Given the description of an element on the screen output the (x, y) to click on. 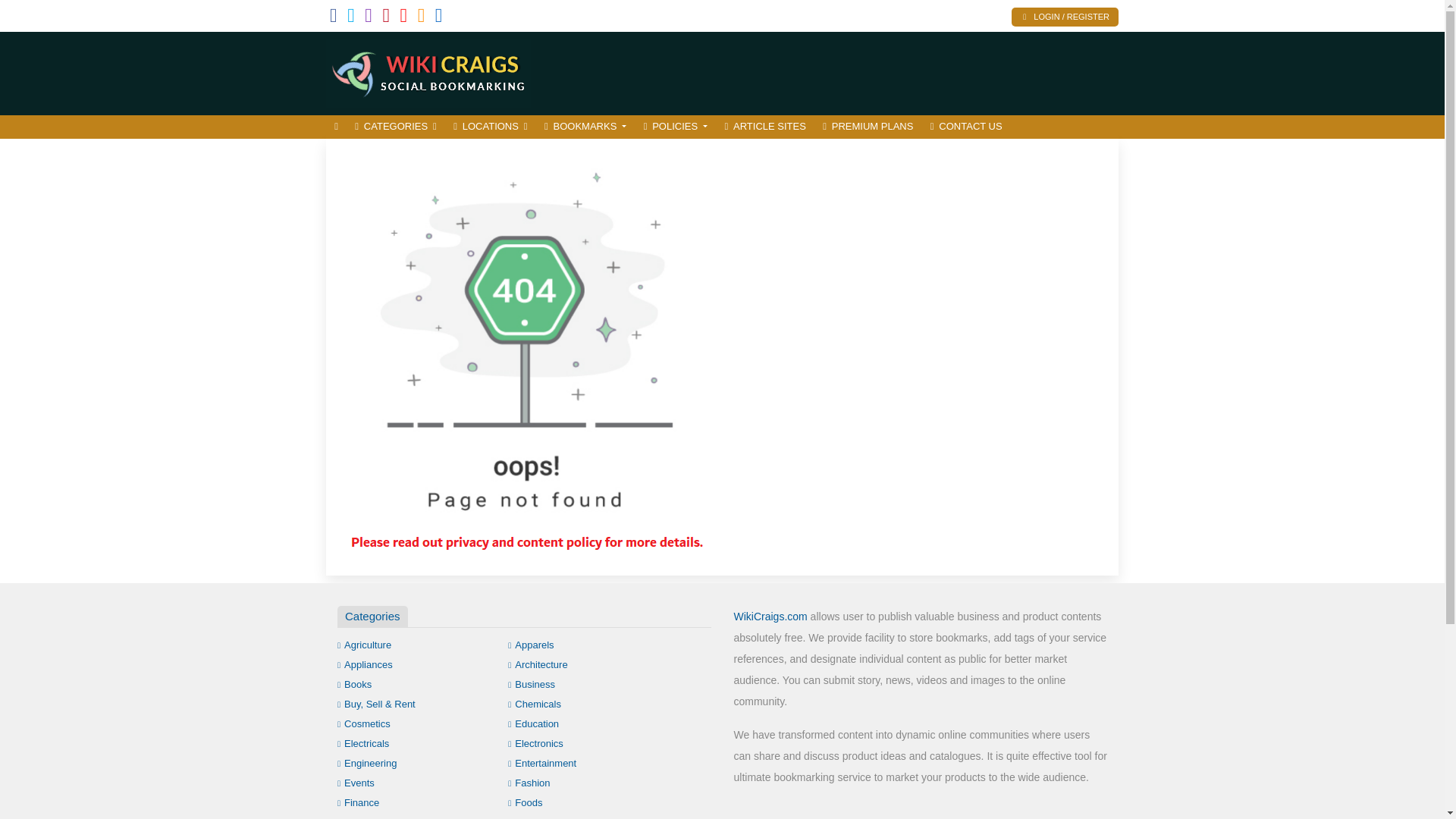
LOCATIONS (490, 126)
CATEGORIES (395, 126)
BOOKMARKS (584, 126)
Increase Information Sharing among Social Internet Users (428, 71)
